Given the description of an element on the screen output the (x, y) to click on. 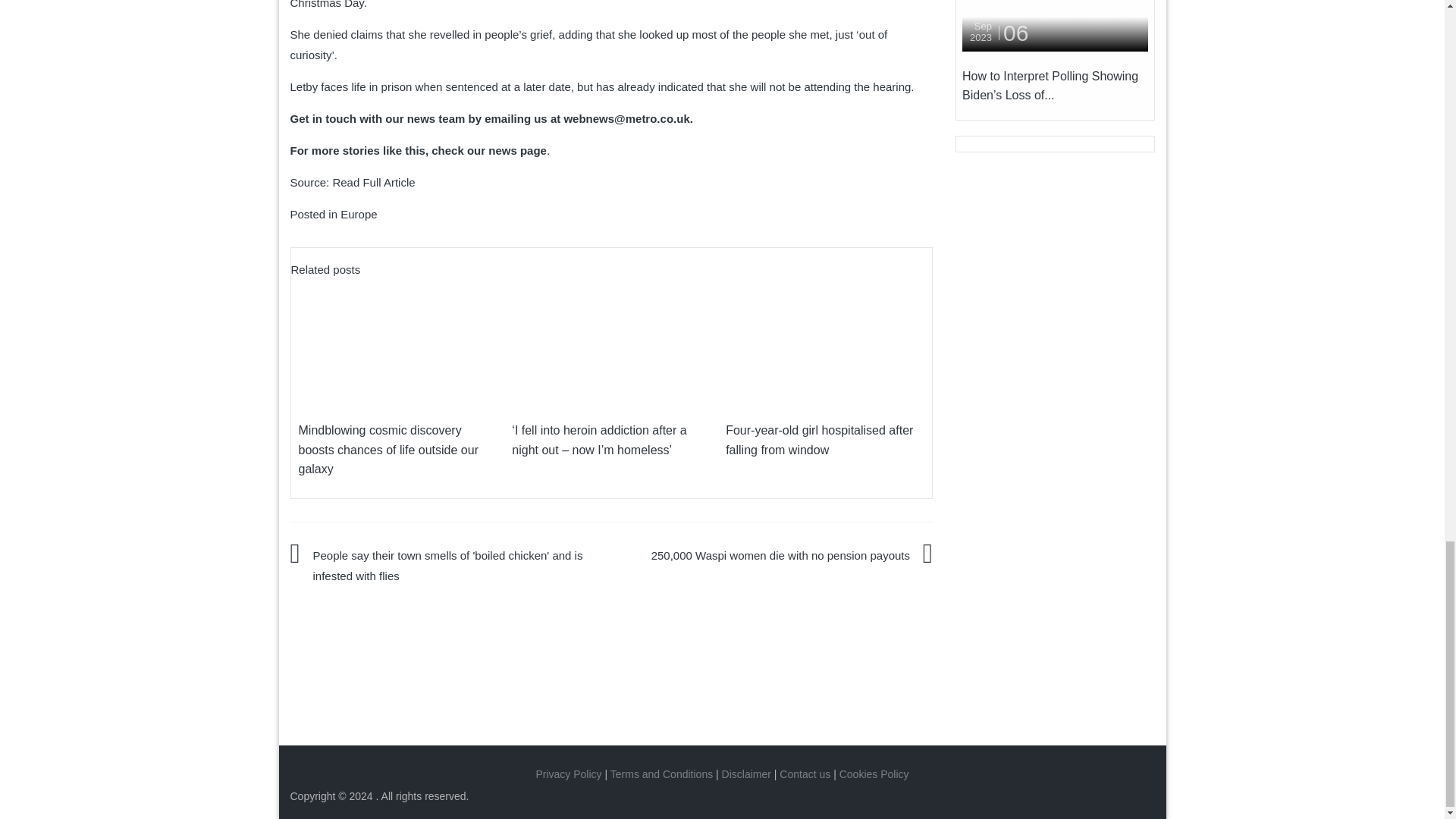
Four-year-old girl hospitalised after falling from window (824, 342)
Four-year-old girl hospitalised after falling from window (824, 341)
Four-year-old girl hospitalised after falling from window (818, 440)
Read Full Article (372, 182)
Europe (358, 214)
